Given the description of an element on the screen output the (x, y) to click on. 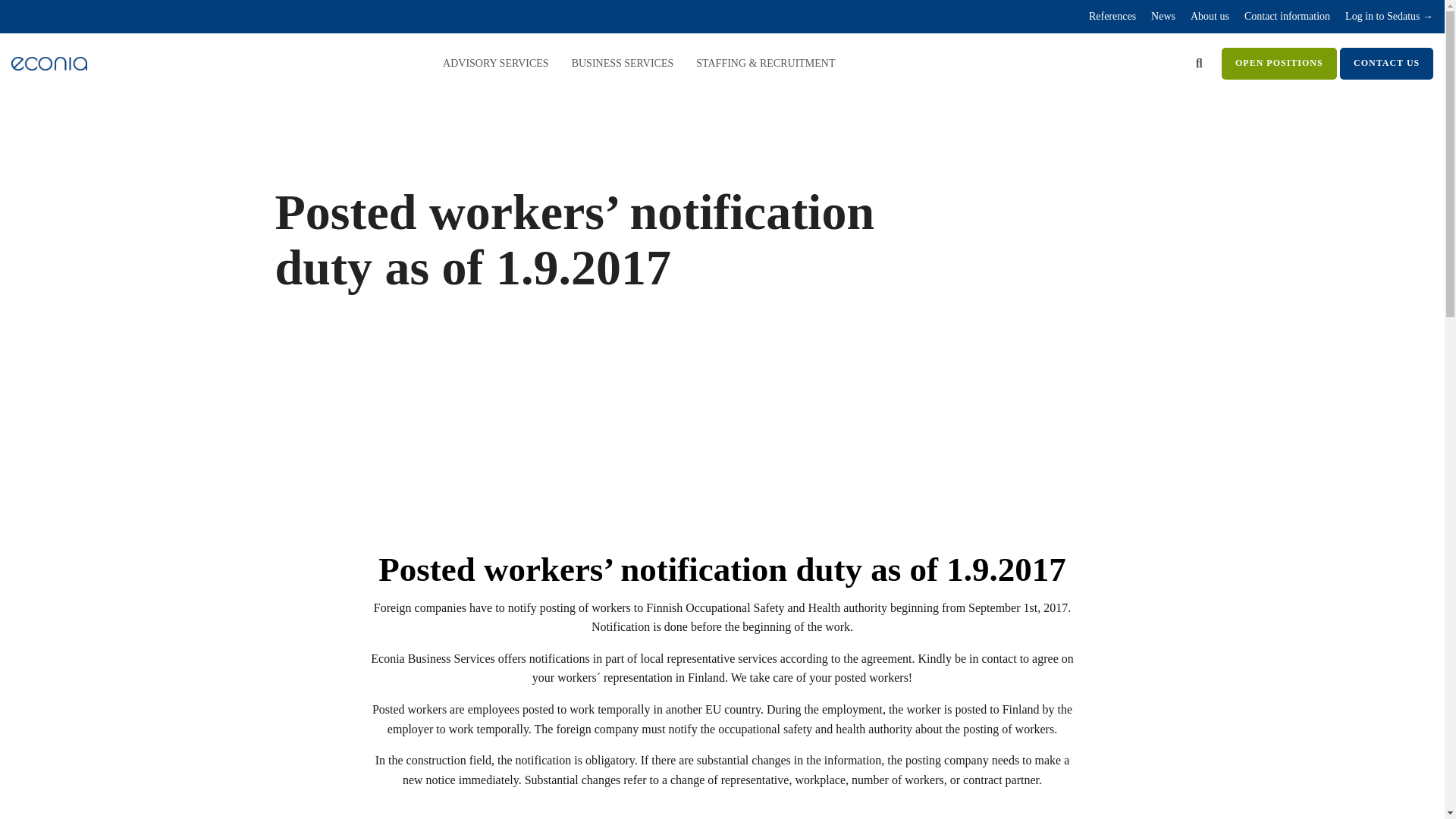
News (1154, 16)
BUSINESS SERVICES (623, 63)
About us (1201, 16)
ADVISORY SERVICES (495, 63)
Contact information (1279, 16)
CONTACT US (1385, 63)
econia (49, 63)
References (1104, 16)
OPEN POSITIONS (1278, 63)
